Given the description of an element on the screen output the (x, y) to click on. 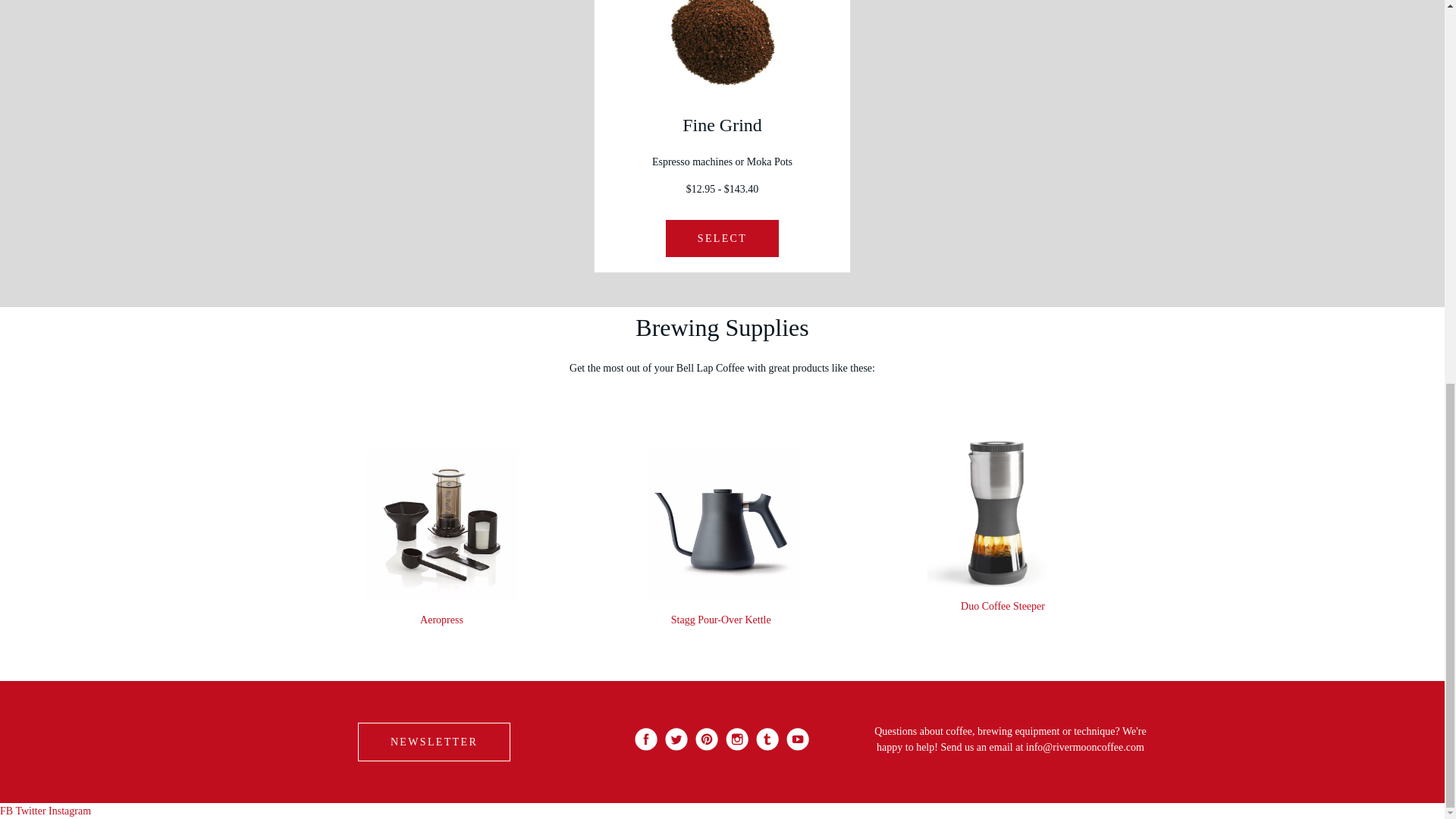
NEWSLETTER (434, 741)
SELECT (721, 238)
FB (6, 810)
Twitter (29, 810)
Stagg Pour-Over Kettle (721, 619)
Duo Coffee Steeper (1002, 605)
Instagram (69, 810)
Aeropress (441, 619)
